Given the description of an element on the screen output the (x, y) to click on. 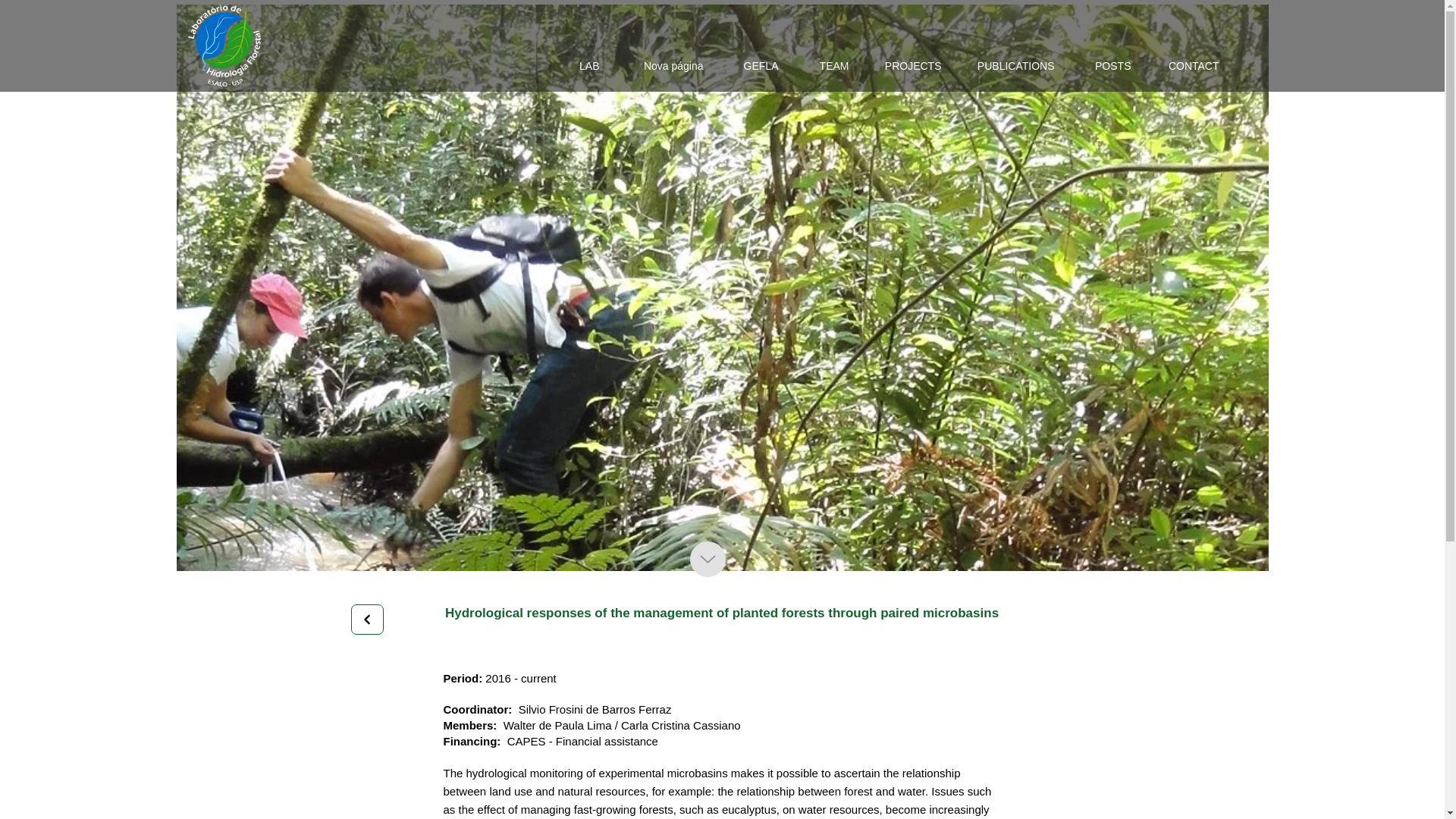
PROJECTS (906, 66)
TEAM (825, 66)
POSTS (1103, 66)
LAB (579, 66)
PUBLICATIONS (1008, 66)
CONTACT (1185, 66)
GEFLA (751, 66)
